Given the description of an element on the screen output the (x, y) to click on. 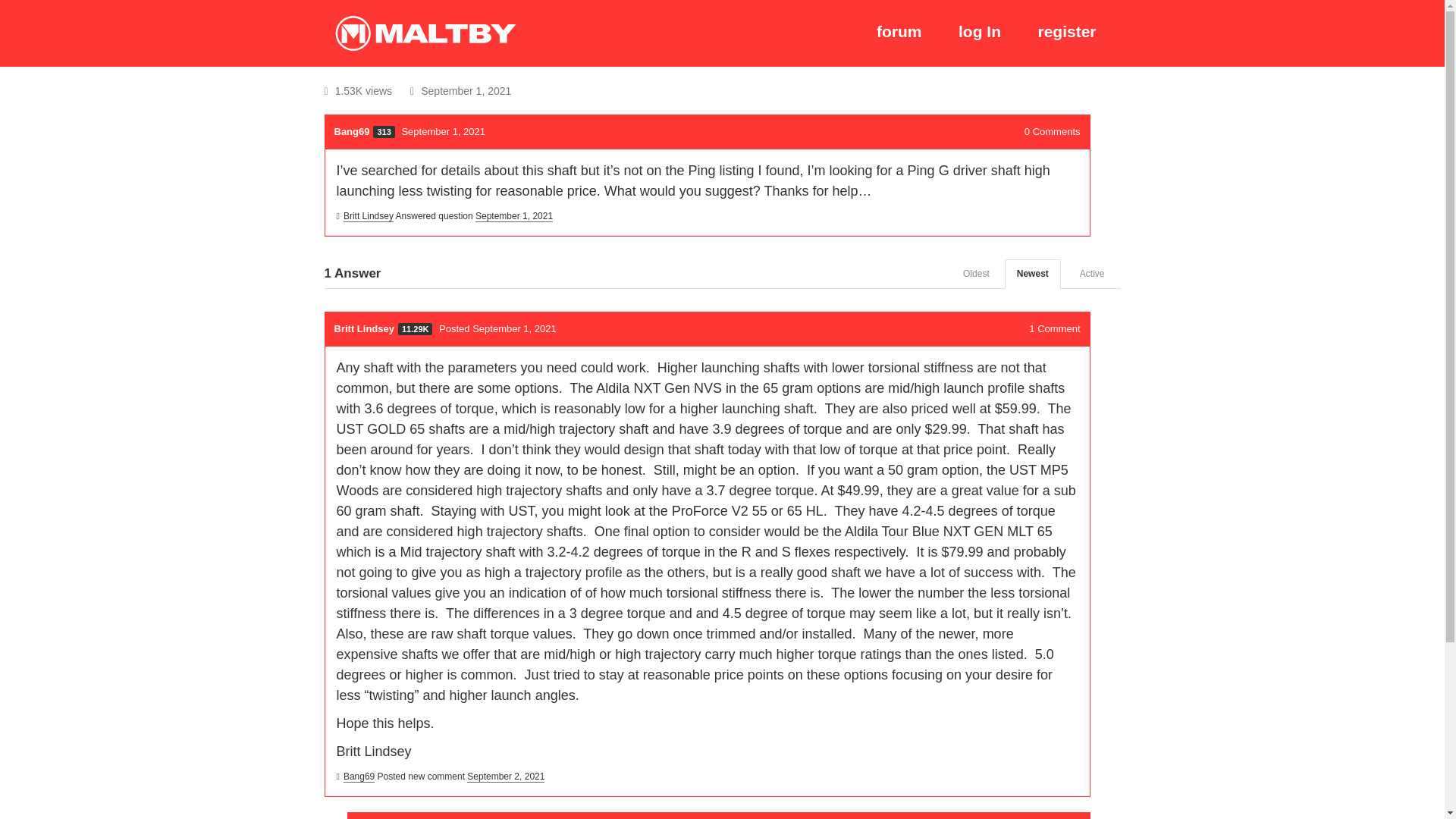
Reputation (414, 328)
Reputation (383, 132)
September 1, 2021 (514, 215)
Bang69 (358, 776)
Newest (1032, 274)
Bang69 (351, 131)
11.29K (414, 328)
313 (383, 132)
Active (1091, 274)
forum (898, 31)
